Given the description of an element on the screen output the (x, y) to click on. 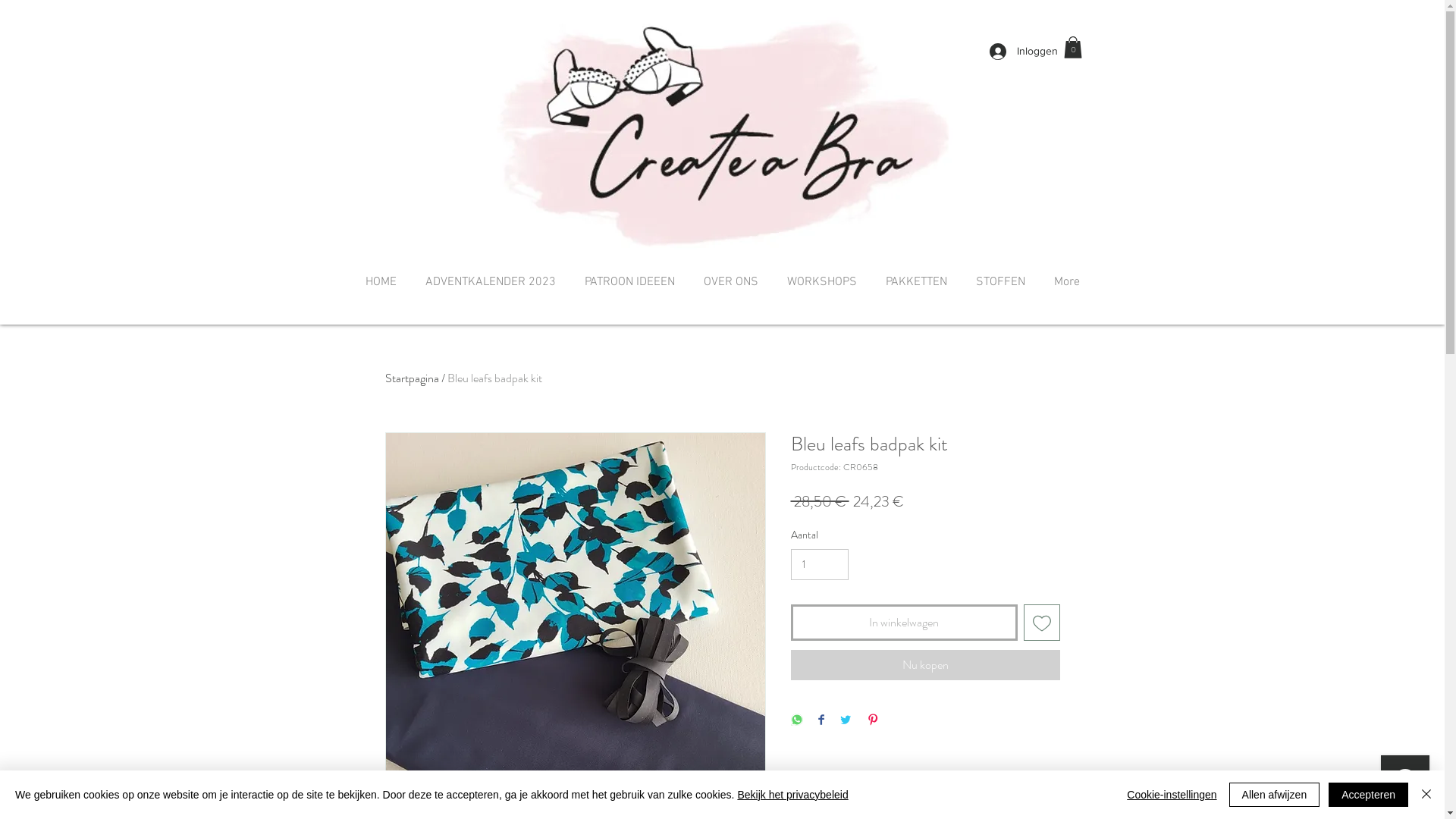
Nu kopen Element type: text (924, 664)
Accepteren Element type: text (1368, 794)
HOME Element type: text (380, 282)
WORKSHOPS Element type: text (820, 282)
Inloggen Element type: text (1019, 51)
Bekijk het privacybeleid Element type: text (792, 794)
PAKKETTEN Element type: text (915, 282)
TEST Element type: hover (721, 133)
ADVENTKALENDER 2023 Element type: text (490, 282)
Startpagina Element type: text (412, 377)
PATROON IDEEEN Element type: text (629, 282)
OVER ONS Element type: text (729, 282)
STOFFEN Element type: text (1000, 282)
In winkelwagen Element type: text (903, 622)
Allen afwijzen Element type: text (1274, 794)
0 Element type: text (1072, 47)
Bleu leafs badpak kit Element type: text (494, 377)
